Given the description of an element on the screen output the (x, y) to click on. 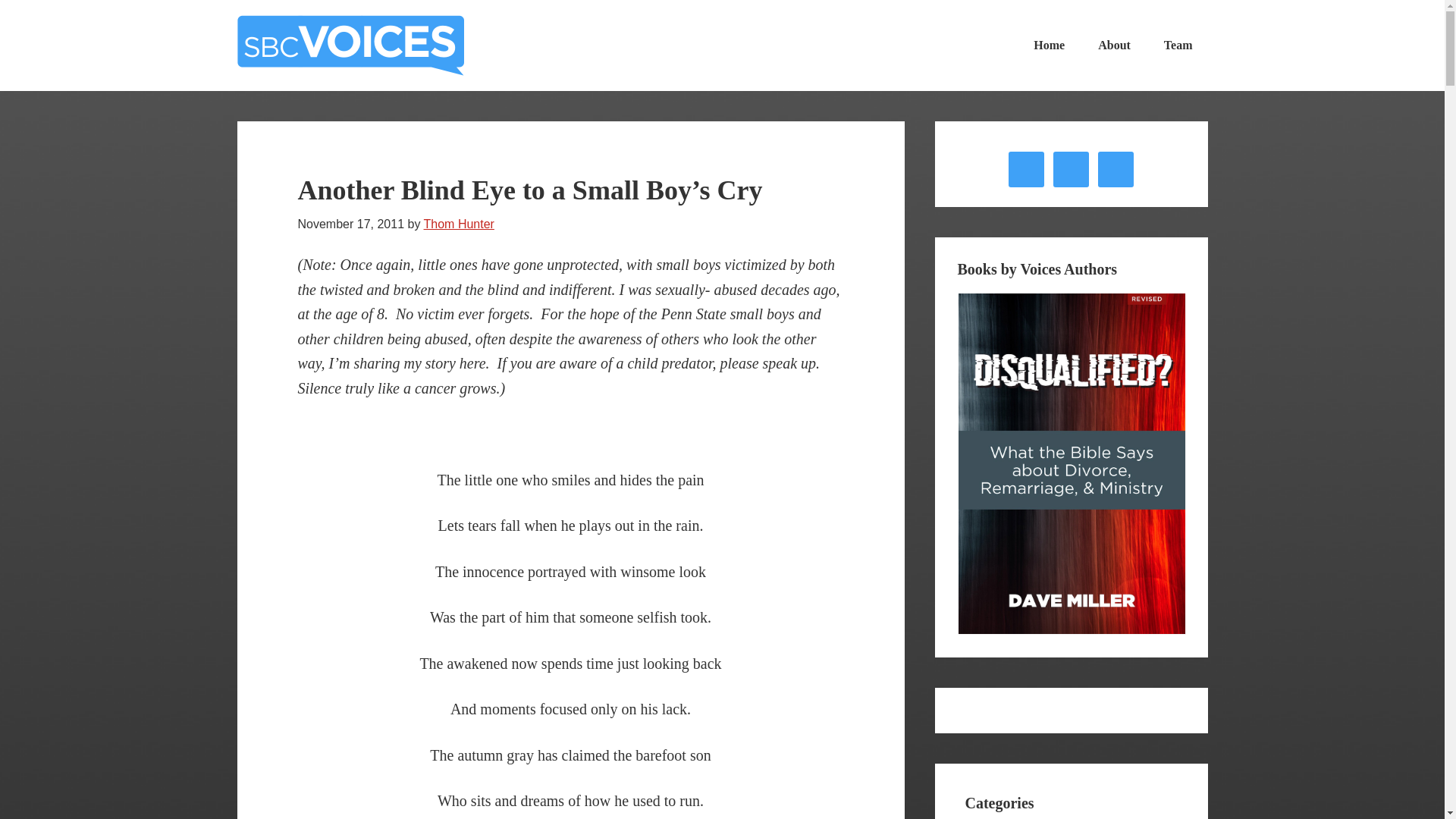
SBC Voices (349, 45)
Home (1048, 45)
About (1114, 45)
Thom Hunter (459, 223)
Team (1178, 45)
